Given the description of an element on the screen output the (x, y) to click on. 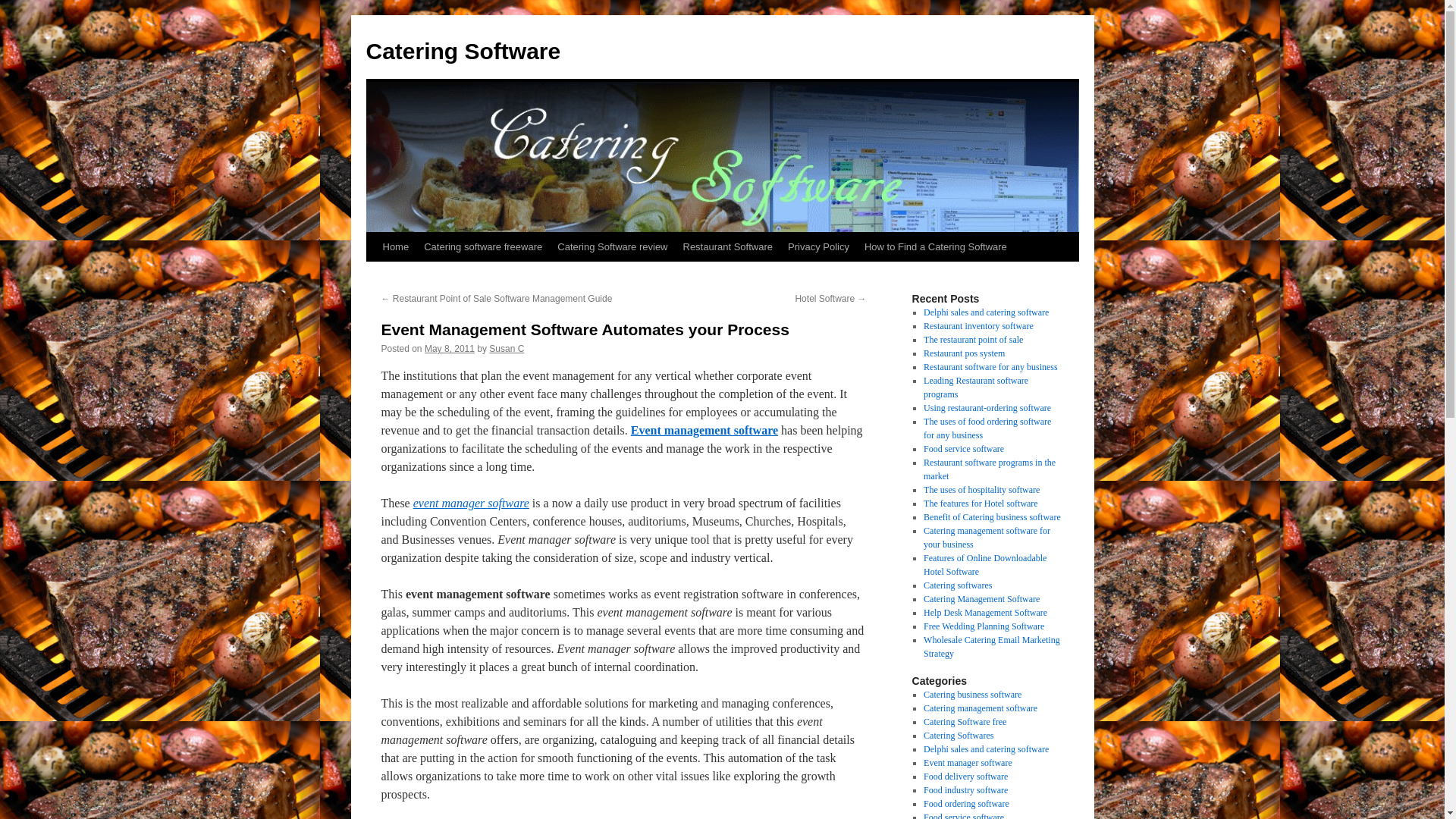
The restaurant point of sale (973, 339)
Delphi sales and catering software (985, 312)
Restaurant software for any business (990, 366)
Susan C (506, 348)
Privacy Policy (818, 246)
May 8, 2011 (449, 348)
The uses of food ordering software for any business (987, 428)
View all posts by Susan C (506, 348)
Restaurant inventory software (978, 326)
Catering software freeware (483, 246)
